Given the description of an element on the screen output the (x, y) to click on. 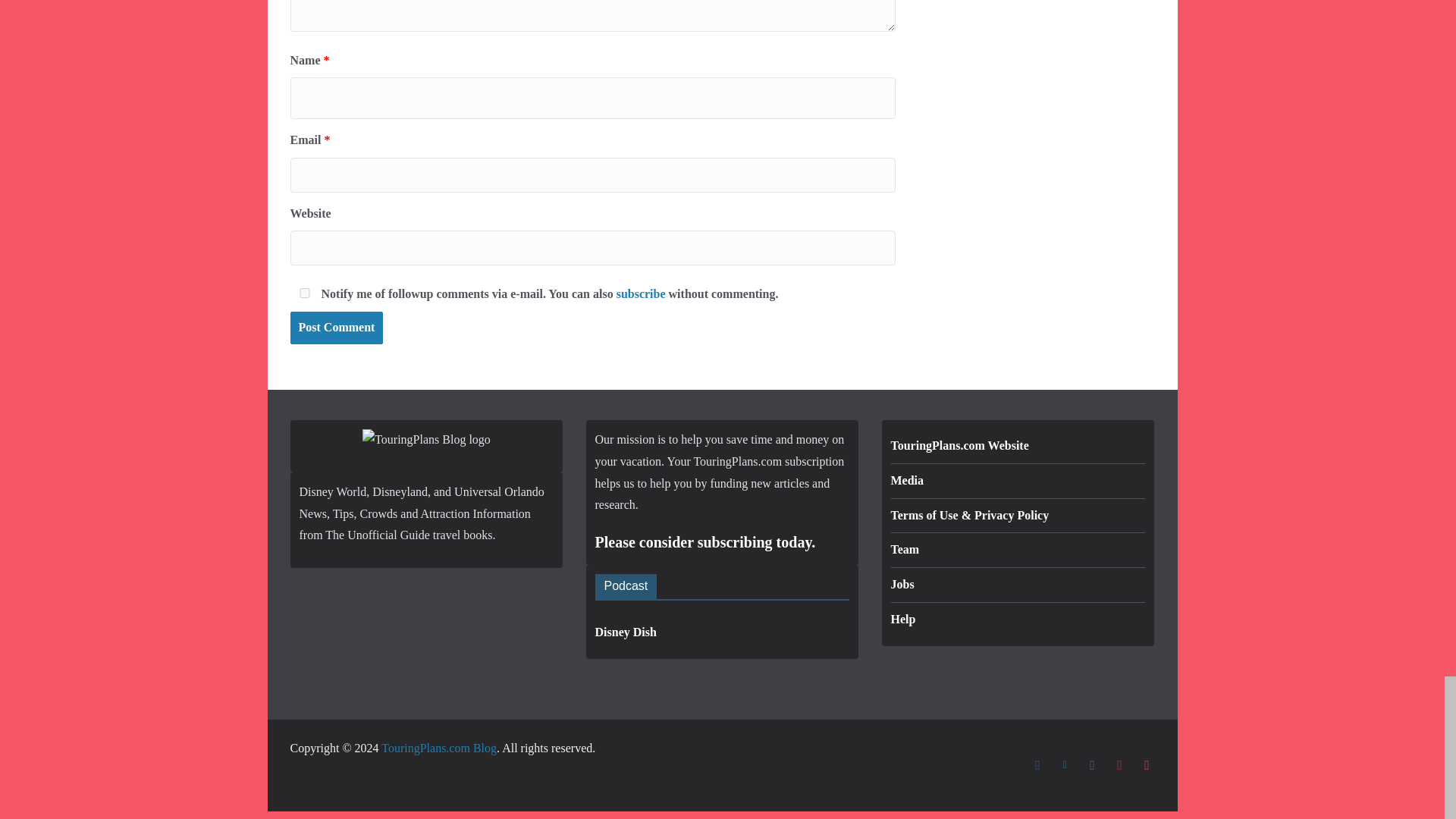
TouringPlans.com Blog (438, 748)
yes (303, 293)
Post Comment (335, 327)
